Given the description of an element on the screen output the (x, y) to click on. 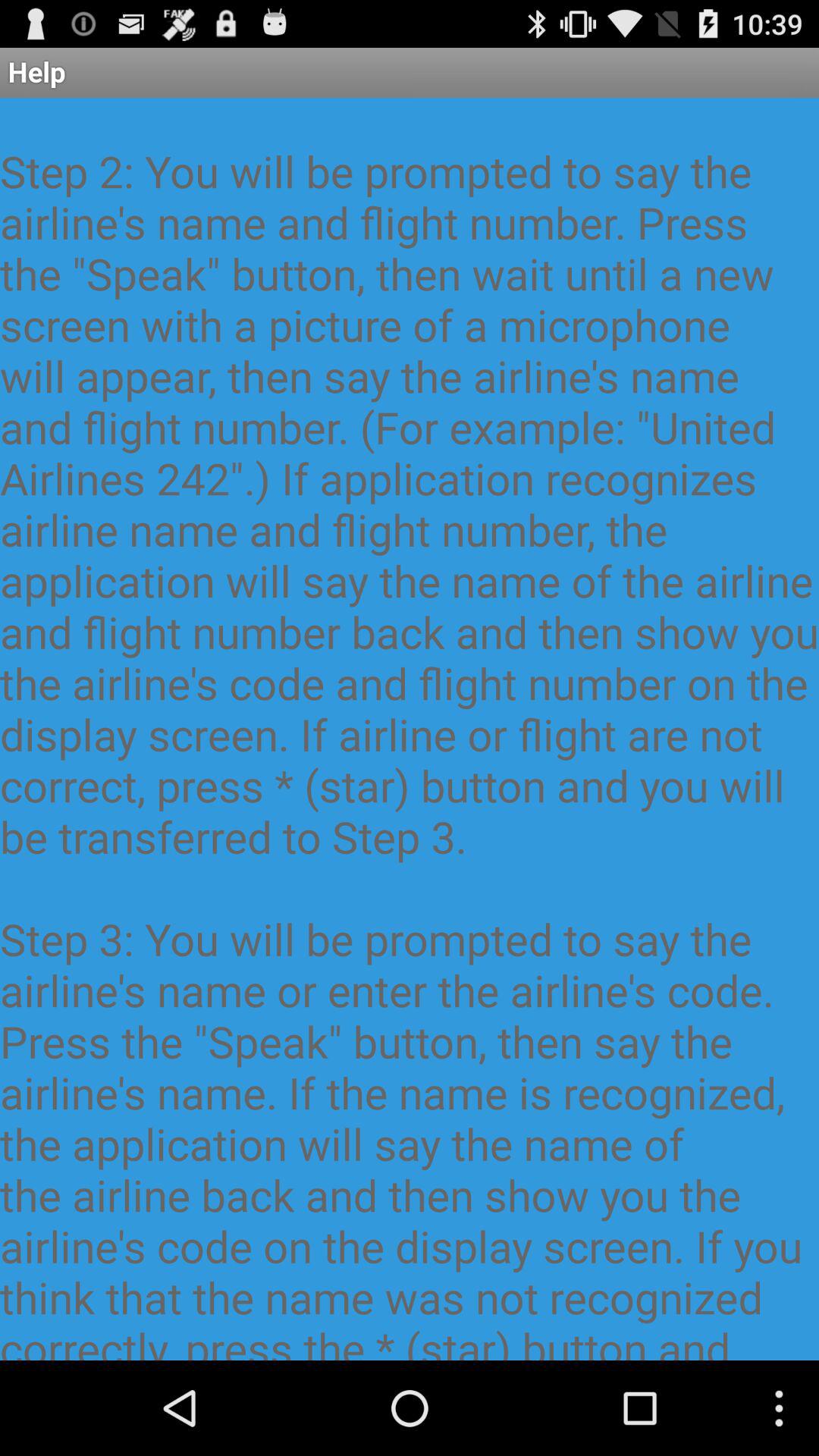
launch item below the help app (409, 728)
